Given the description of an element on the screen output the (x, y) to click on. 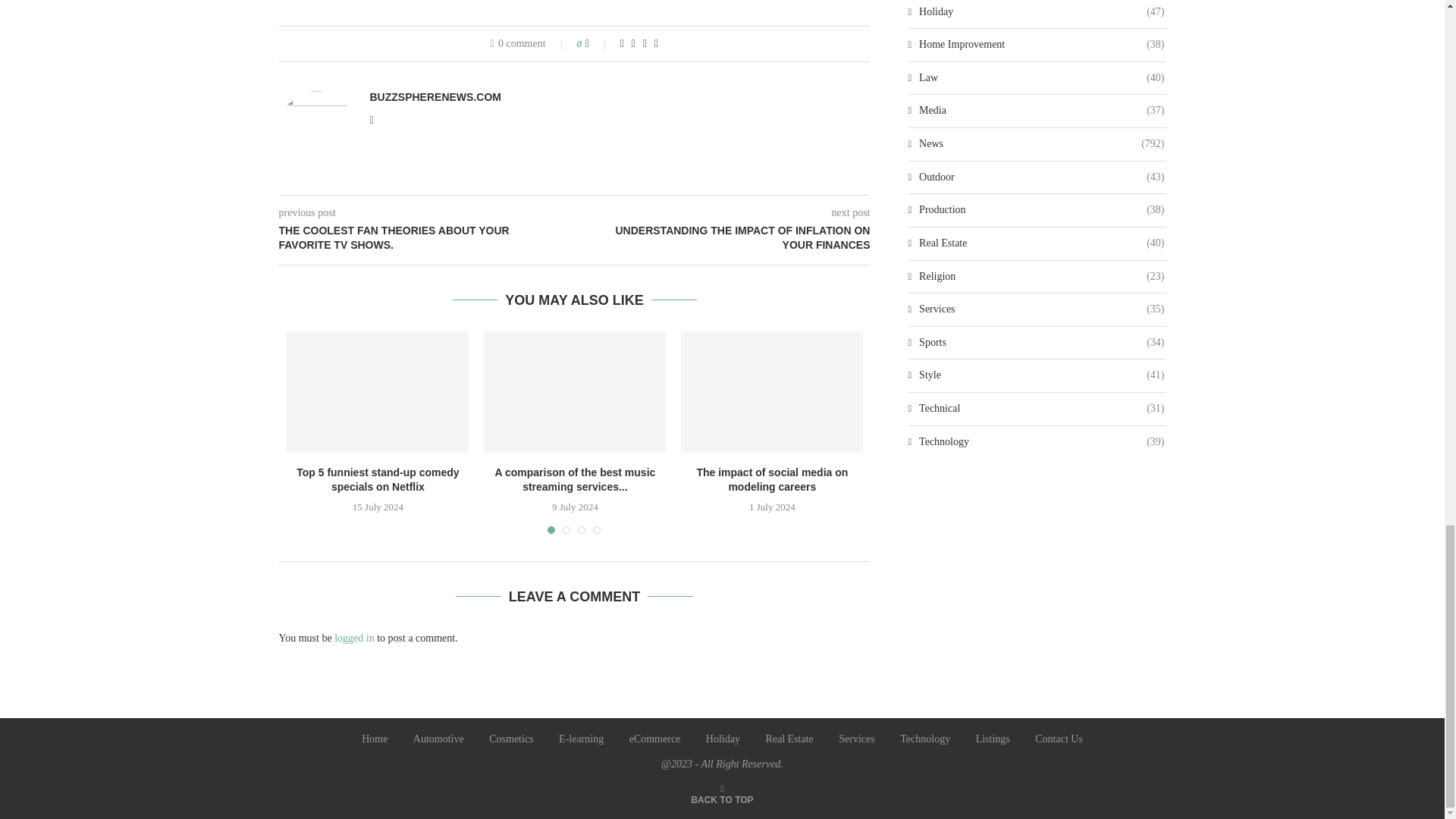
The impact of social media on modeling careers (772, 391)
Like (597, 43)
Top 5 funniest stand-up comedy specials on Netflix (377, 391)
Author buzzspherenews.com (434, 96)
A comparison of the best music streaming services available (574, 391)
